Given the description of an element on the screen output the (x, y) to click on. 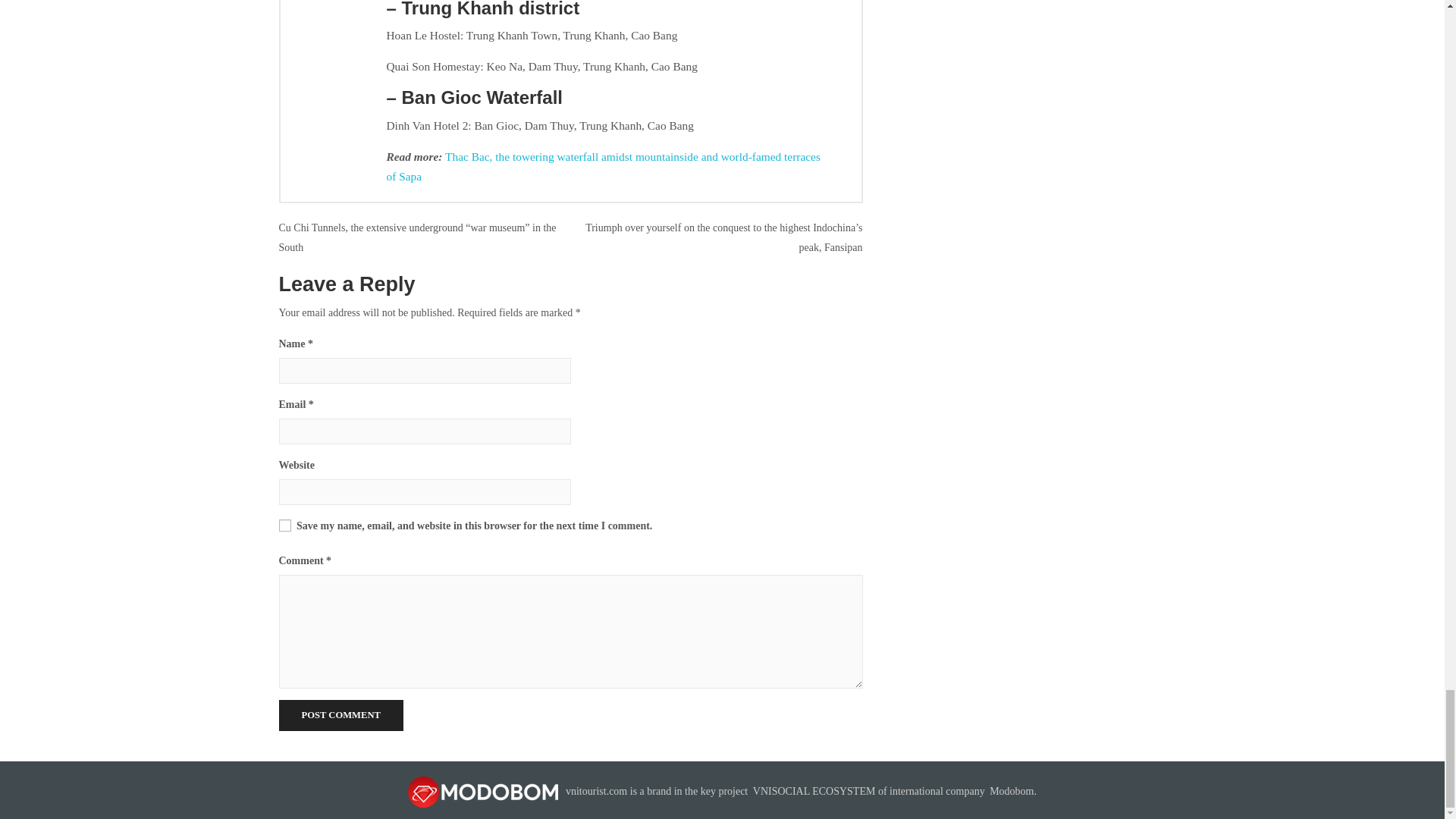
Post Comment (341, 715)
yes (285, 525)
